Given the description of an element on the screen output the (x, y) to click on. 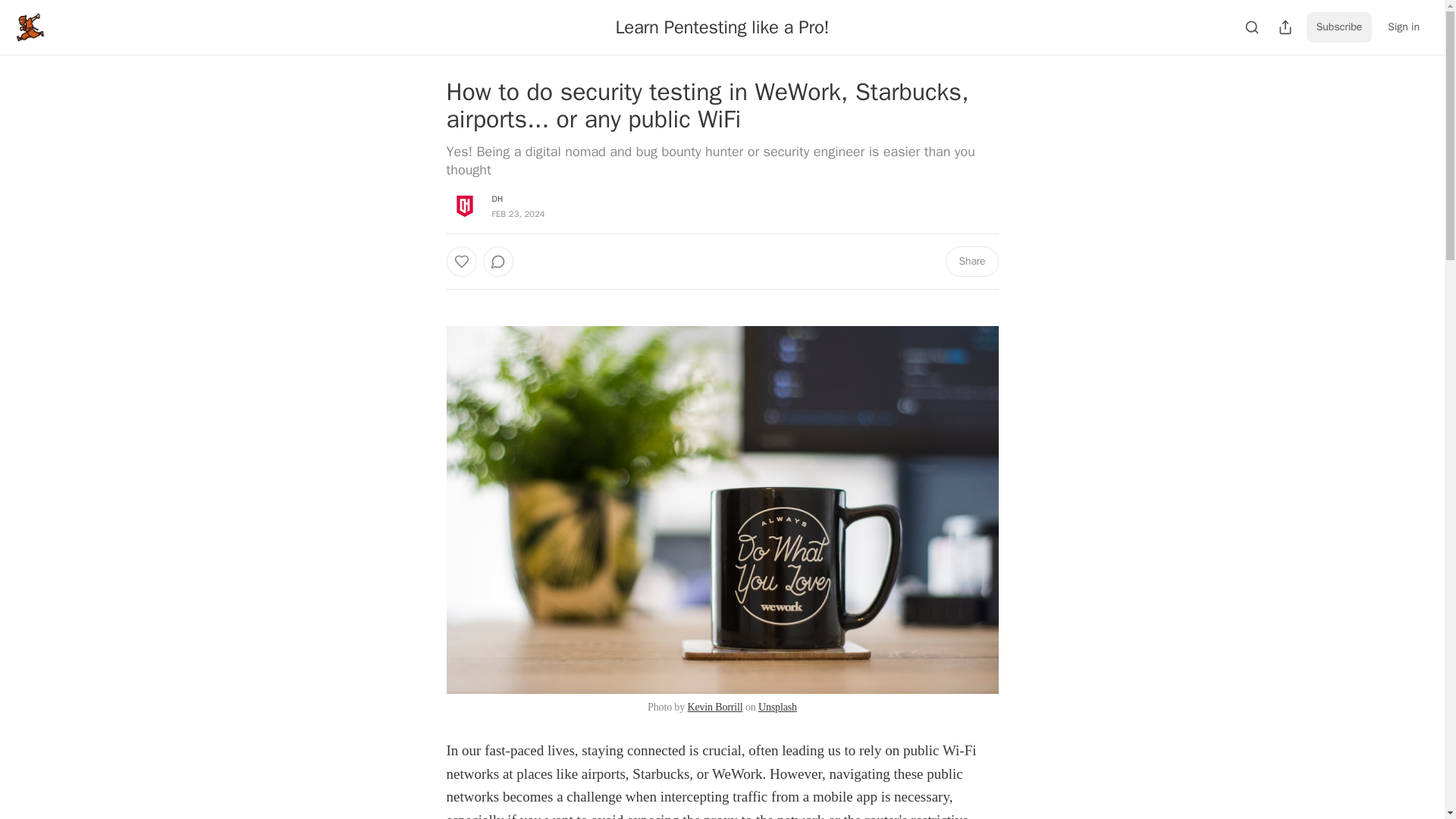
DH (497, 198)
Sign in (1403, 27)
Share (970, 261)
Subscribe (1339, 27)
Unsplash (777, 706)
Kevin Borrill (714, 706)
Learn Pentesting like a Pro! (721, 26)
